Given the description of an element on the screen output the (x, y) to click on. 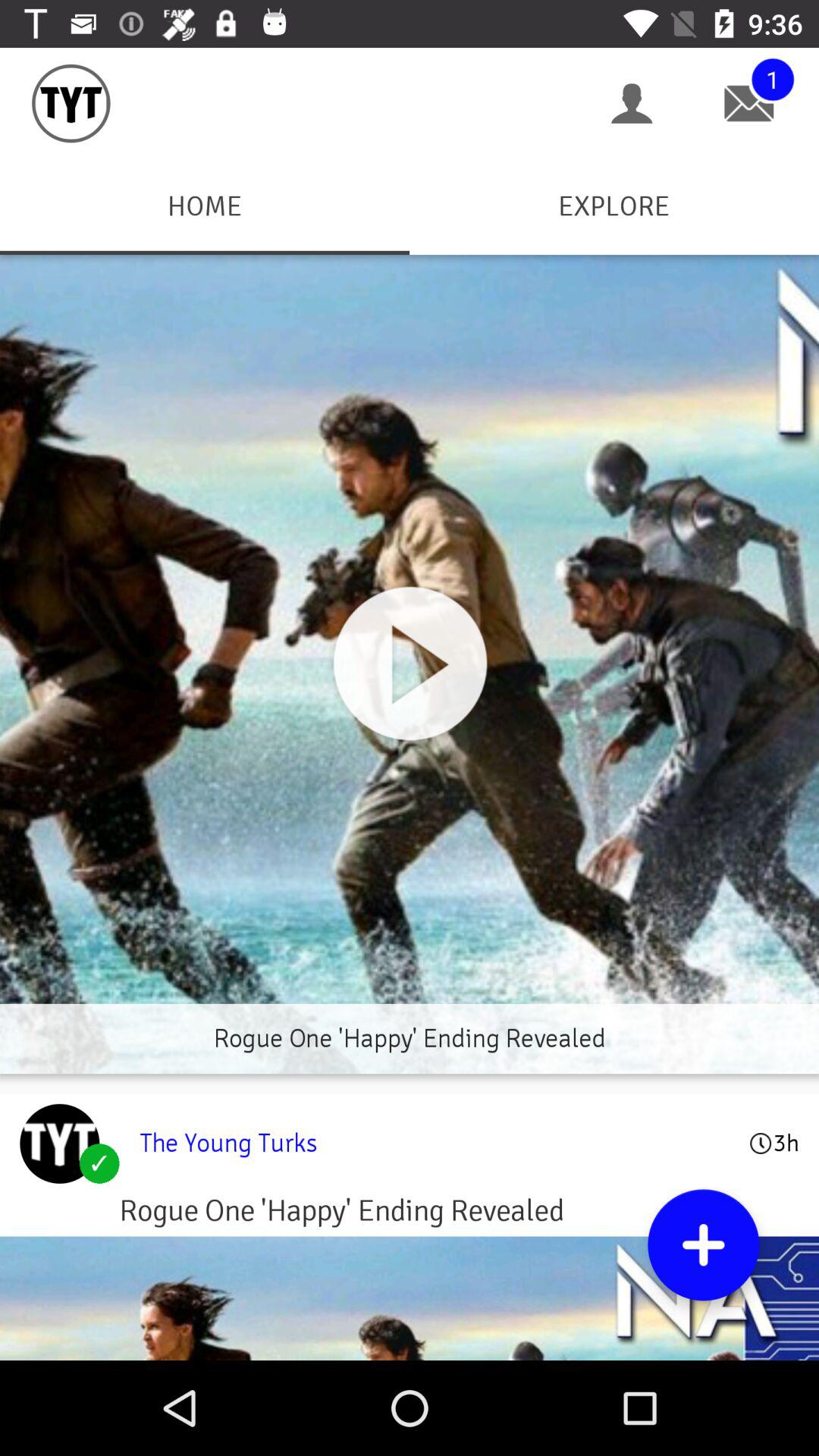
turn off the young turks icon (434, 1143)
